Given the description of an element on the screen output the (x, y) to click on. 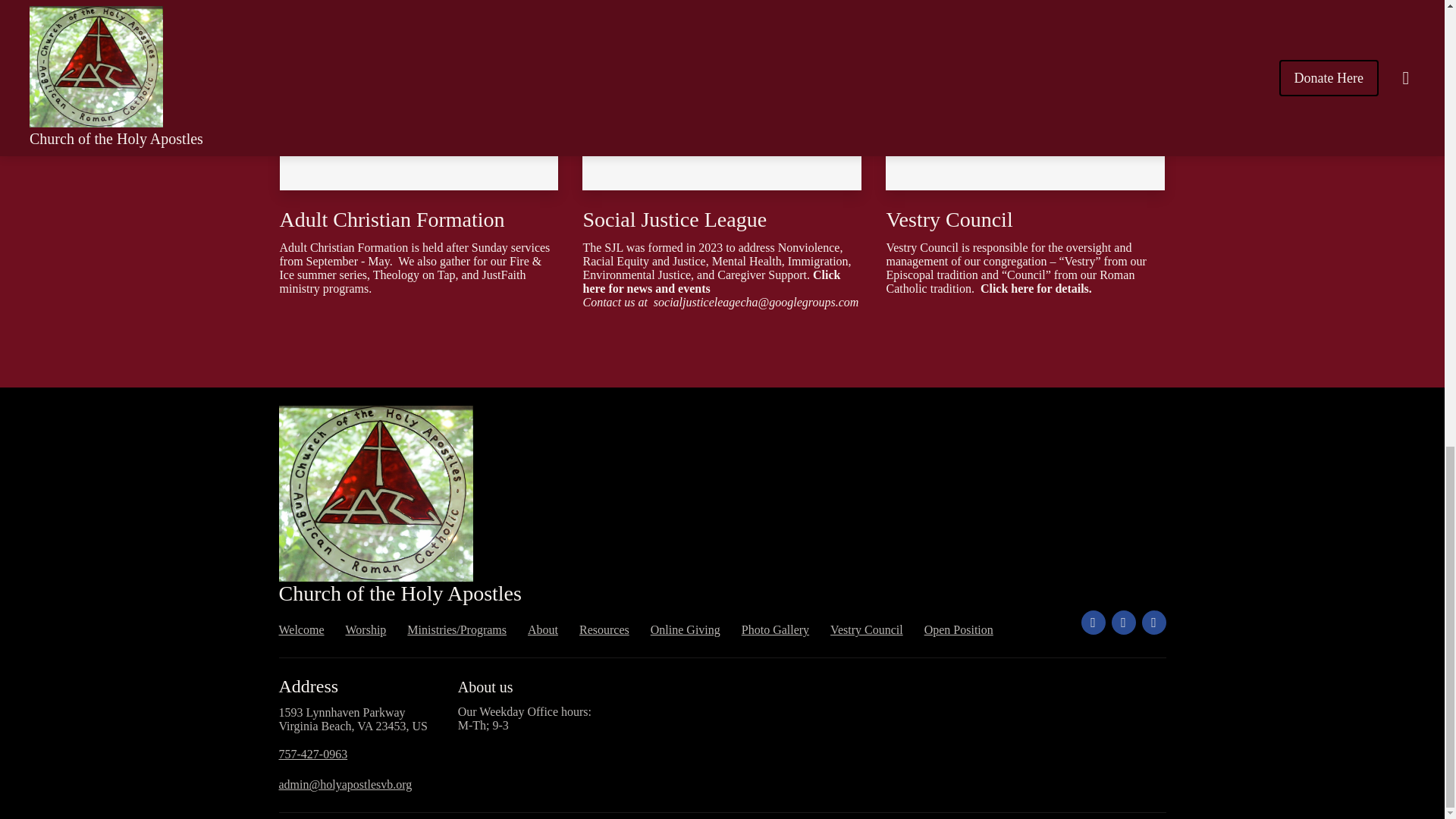
Vestry Council (865, 629)
757-427-0963 (313, 754)
Open Position (958, 629)
Worship (366, 629)
Resources (603, 629)
About (542, 629)
Welcome (301, 629)
Photo Gallery (775, 629)
Online Giving (685, 629)
